Given the description of an element on the screen output the (x, y) to click on. 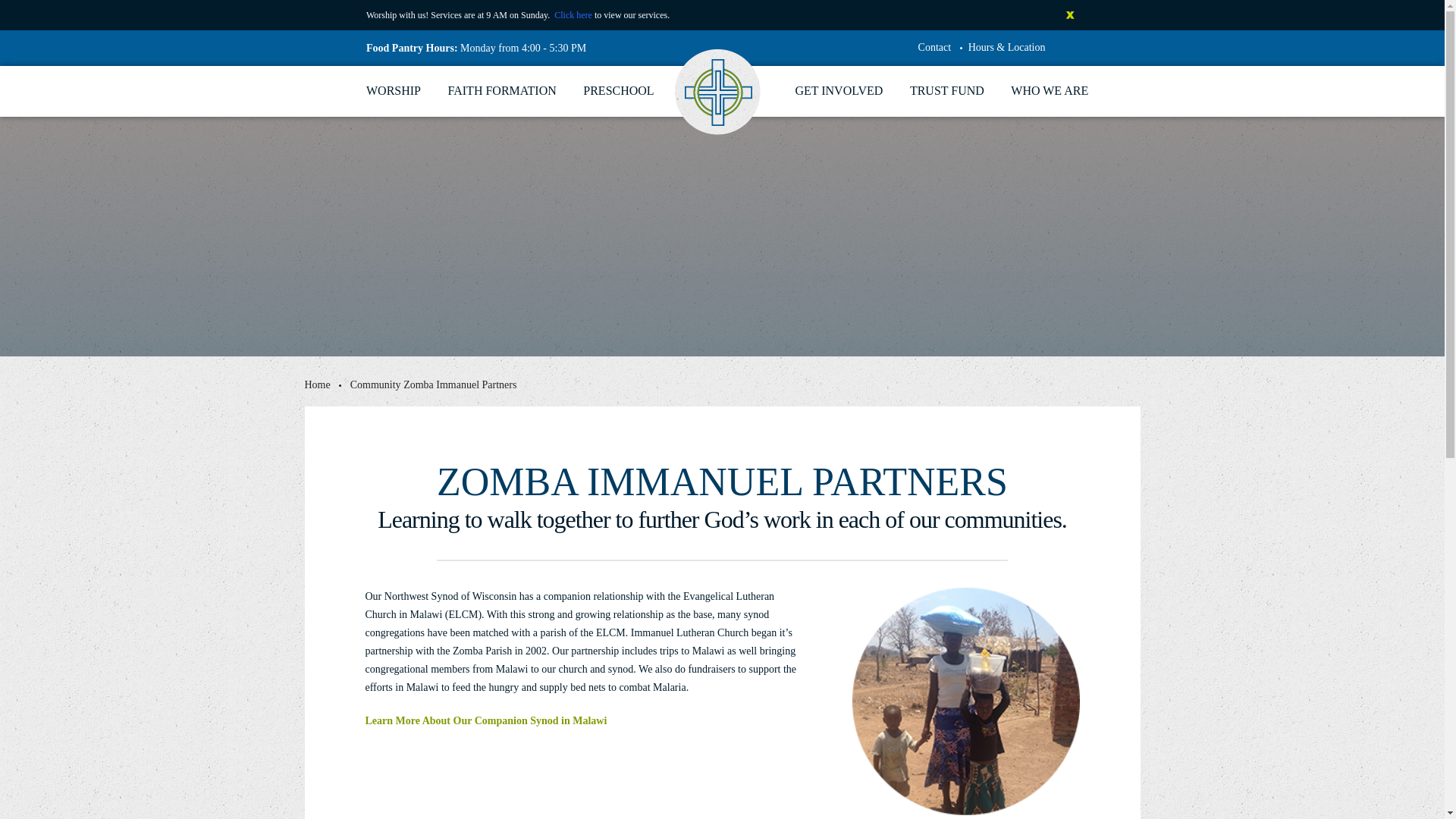
GET INVOLVED (838, 91)
Contact (935, 47)
PRESCHOOL (618, 91)
WHO WE ARE (1048, 91)
Close (1069, 14)
FAITH FORMATION (502, 91)
Get Involved (838, 91)
Faith Formation (502, 91)
WORSHIP (393, 91)
TRUST FUND (947, 91)
Worship (393, 91)
Preschool (618, 91)
Click here (573, 14)
facebook (1069, 47)
